Given the description of an element on the screen output the (x, y) to click on. 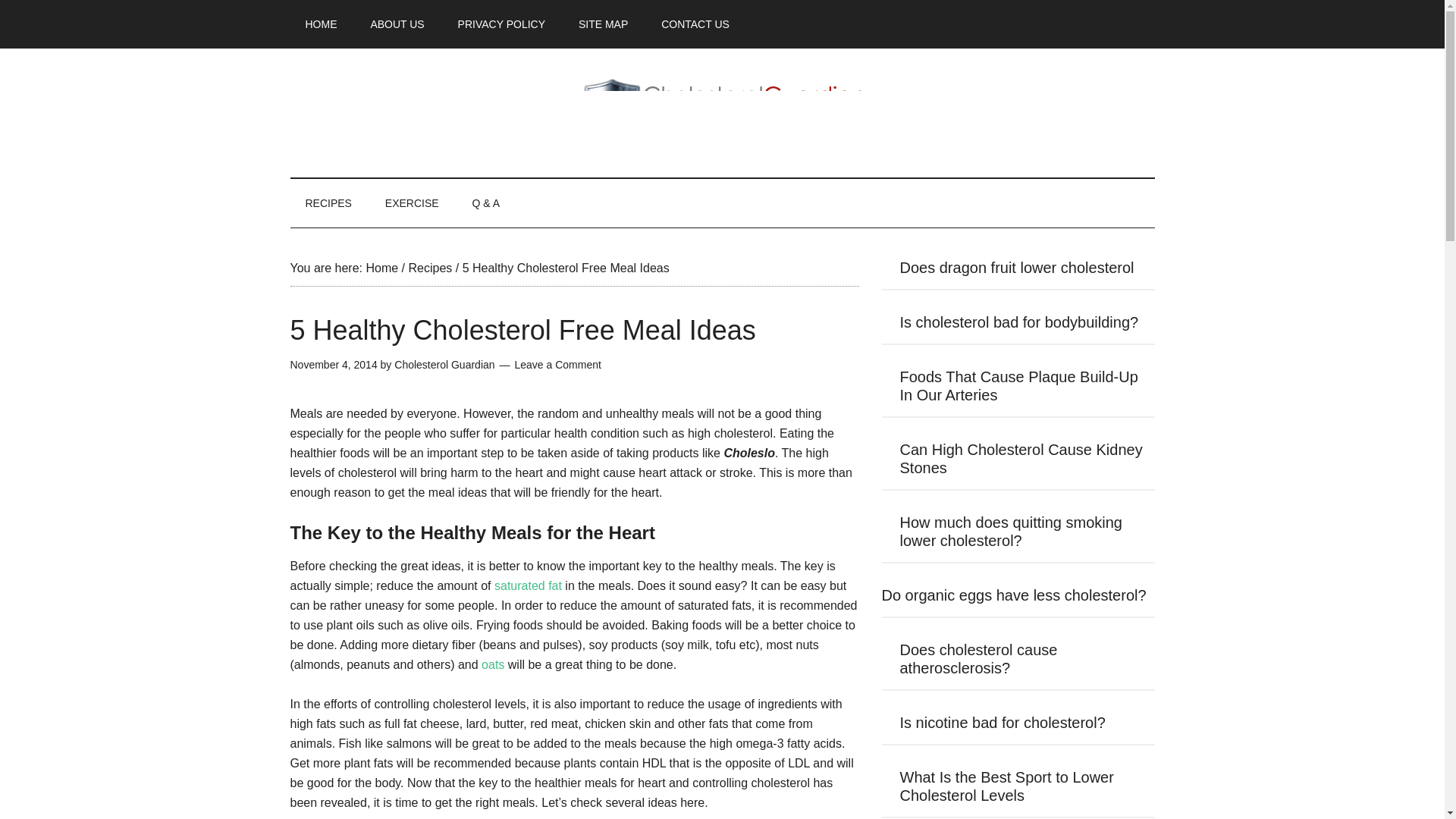
CONTACT US (695, 24)
Cholesterol Guardian (721, 112)
Do organic eggs have less cholesterol? (1012, 595)
SITE MAP (603, 24)
saturated fat (527, 585)
HOME (320, 24)
EXERCISE (411, 203)
Foods That Cause Plaque Build-Up In Our Arteries (1018, 385)
RECIPES (327, 203)
Recipes (429, 267)
oats (492, 664)
PRIVACY POLICY (501, 24)
What Is the Best Sport to Lower Cholesterol Levels (1006, 786)
How much does quitting smoking lower cholesterol? (1010, 531)
ABOUT US (397, 24)
